Given the description of an element on the screen output the (x, y) to click on. 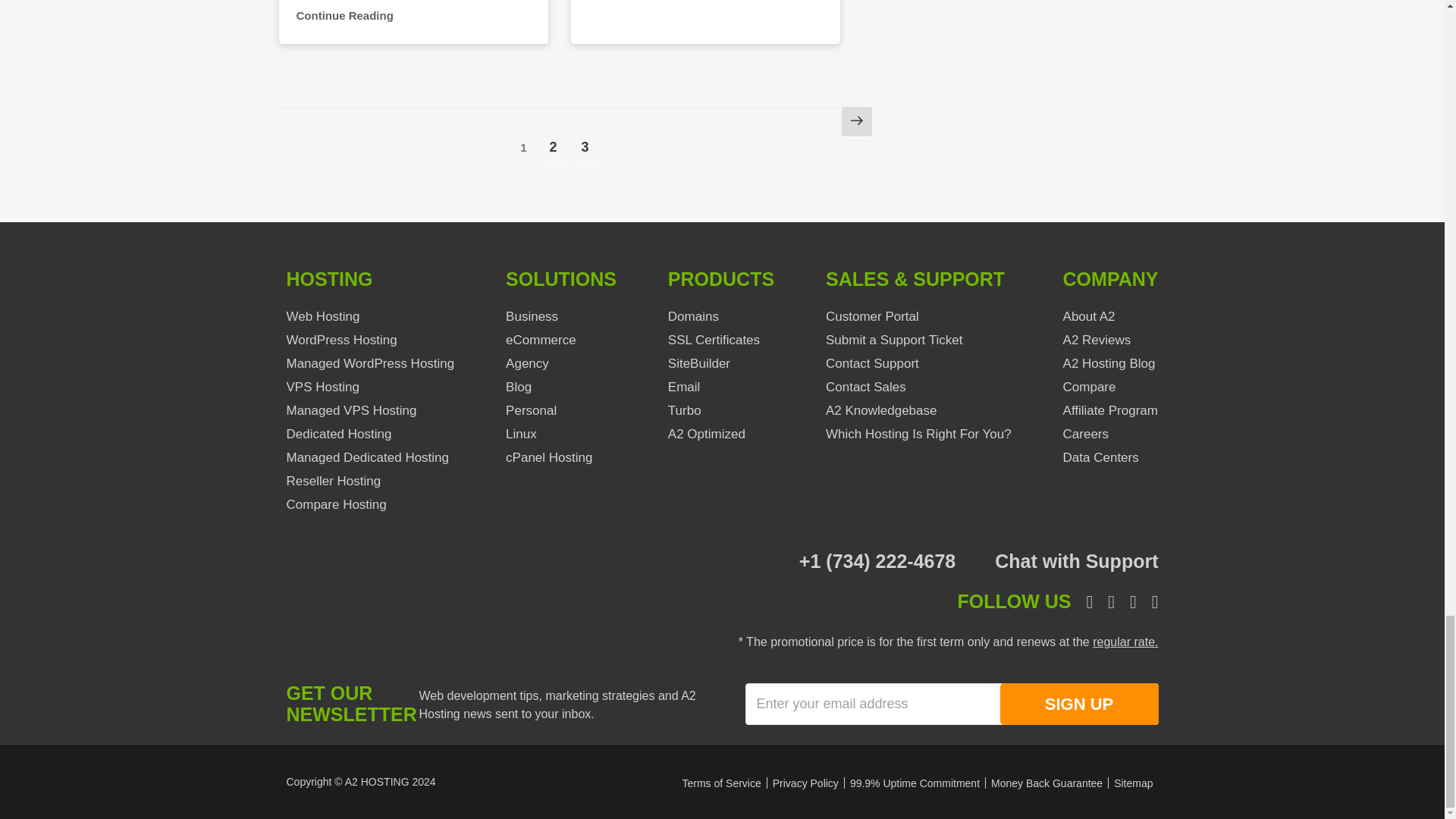
SIGN UP (1077, 703)
